Given the description of an element on the screen output the (x, y) to click on. 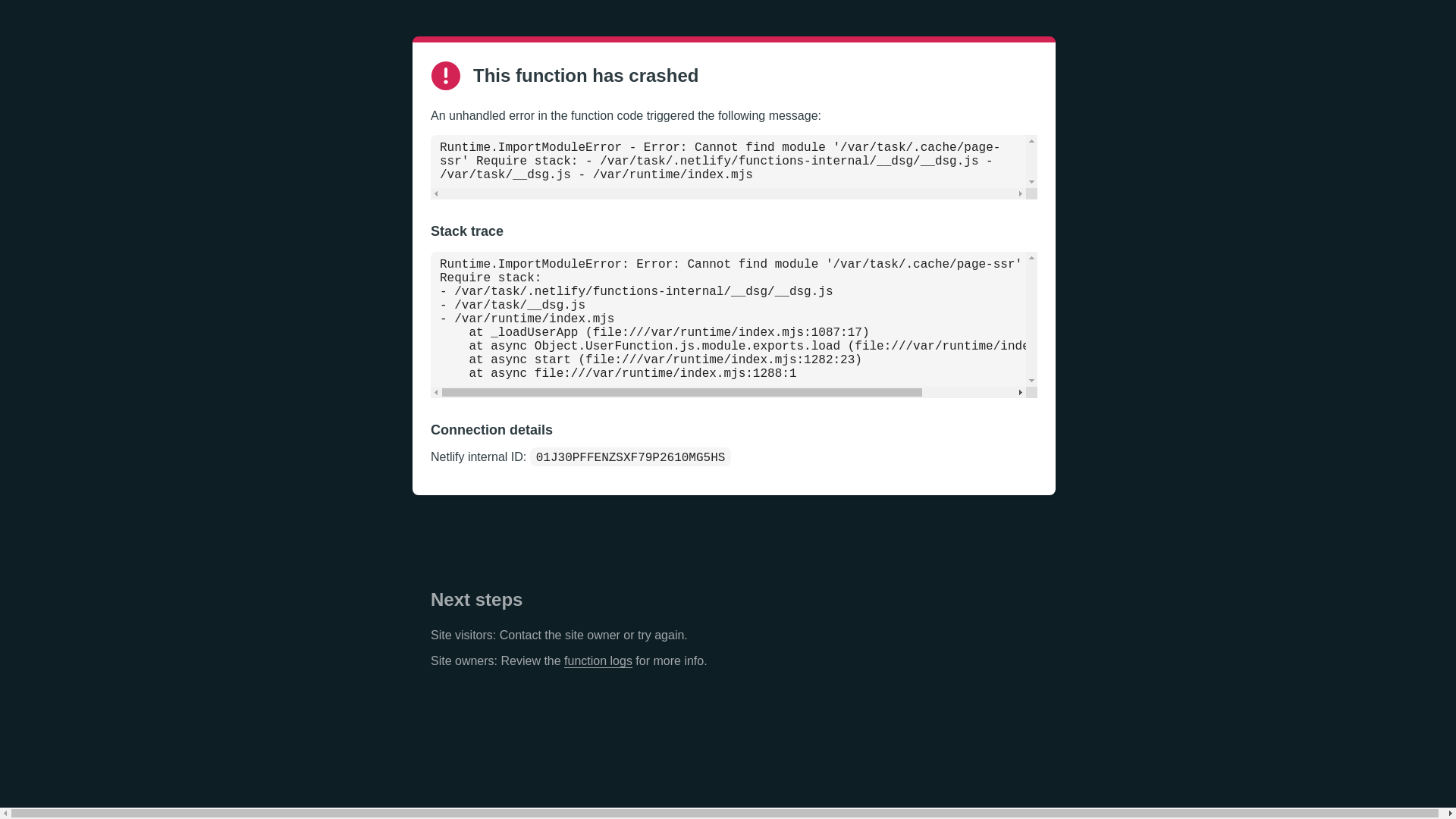
function logs (597, 661)
